Given the description of an element on the screen output the (x, y) to click on. 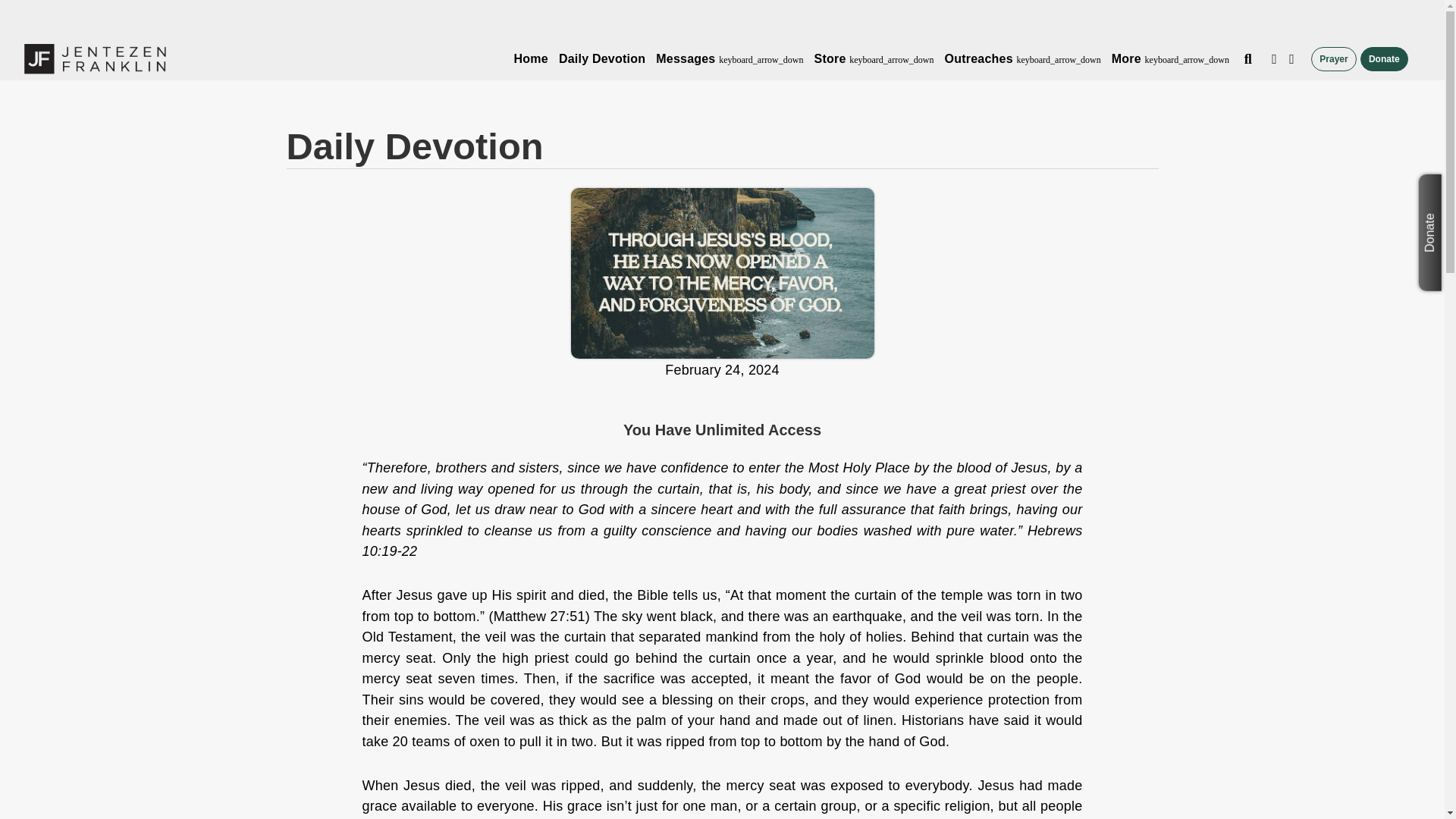
Daily Devotion (601, 59)
HERE (785, 18)
Register To Vote In 2024 (703, 18)
Home (531, 59)
Jentezen Franklin (94, 59)
